Given the description of an element on the screen output the (x, y) to click on. 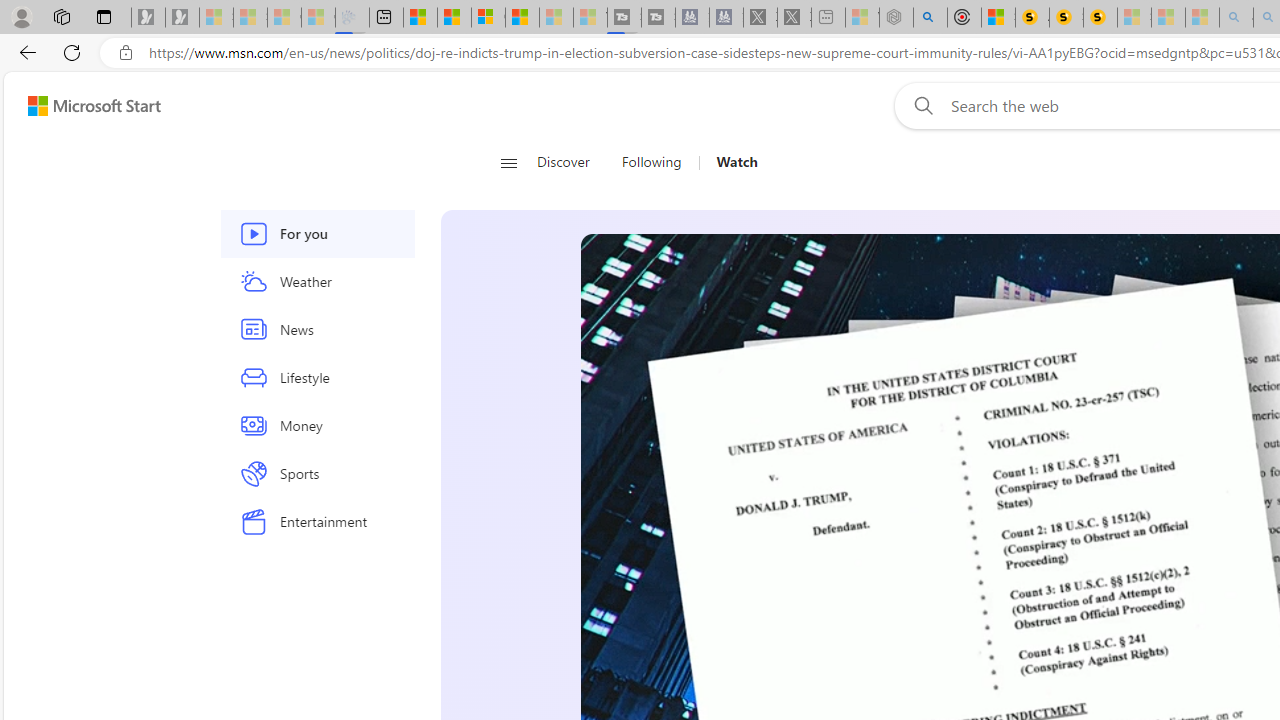
poe - Search (930, 17)
